Given the description of an element on the screen output the (x, y) to click on. 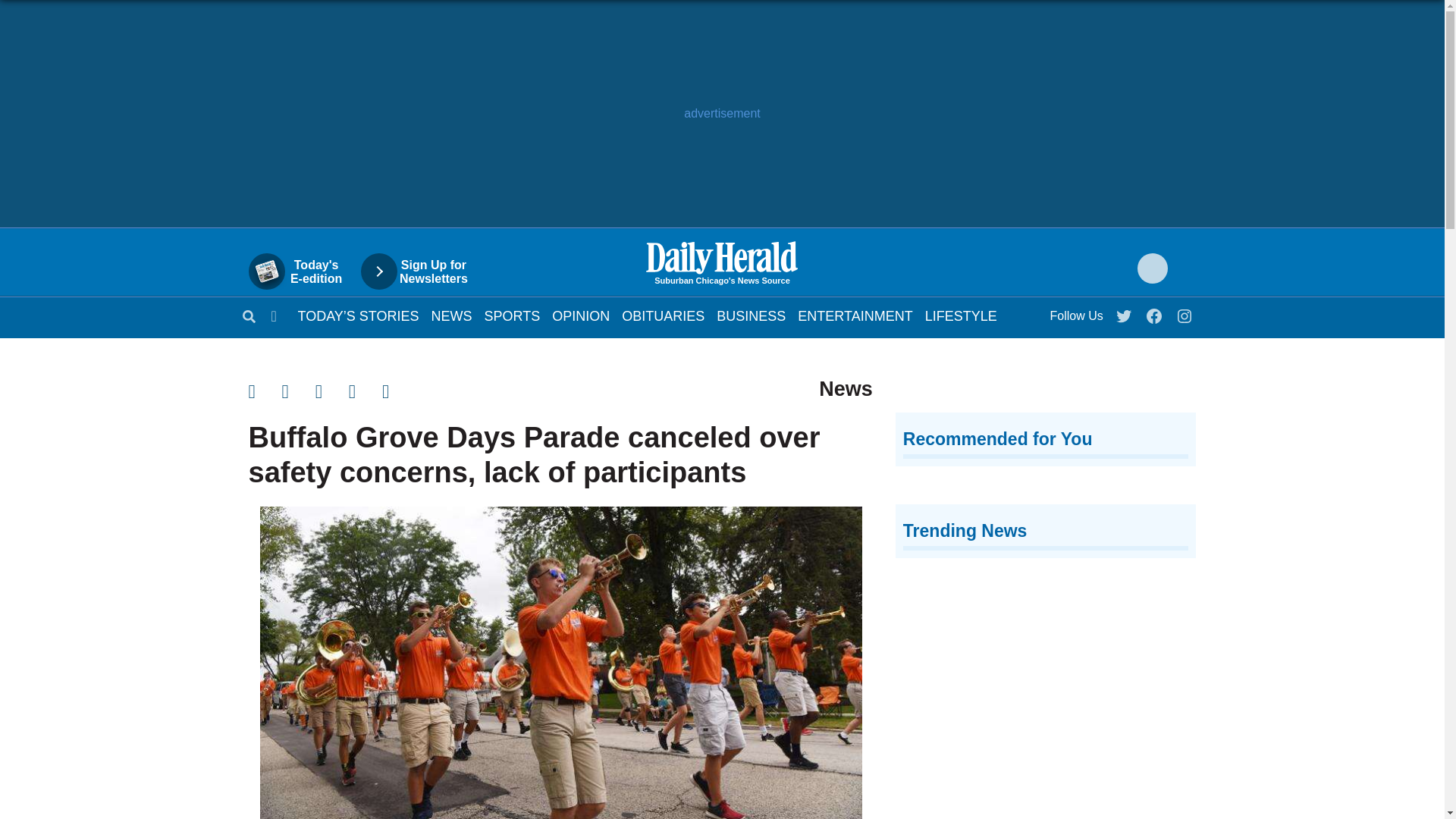
Twitter (1124, 312)
LIFESTYLE (960, 315)
Business (751, 315)
Facebook (1155, 312)
News (450, 315)
OPINION (580, 315)
Instagram (1184, 312)
Sports (512, 315)
Lifestyle (960, 315)
Opinion (580, 315)
BUSINESS (751, 315)
Sign Up for Newsletters (421, 271)
Entertainment (854, 315)
Obituaries (662, 315)
ENTERTAINMENT (854, 315)
